Given the description of an element on the screen output the (x, y) to click on. 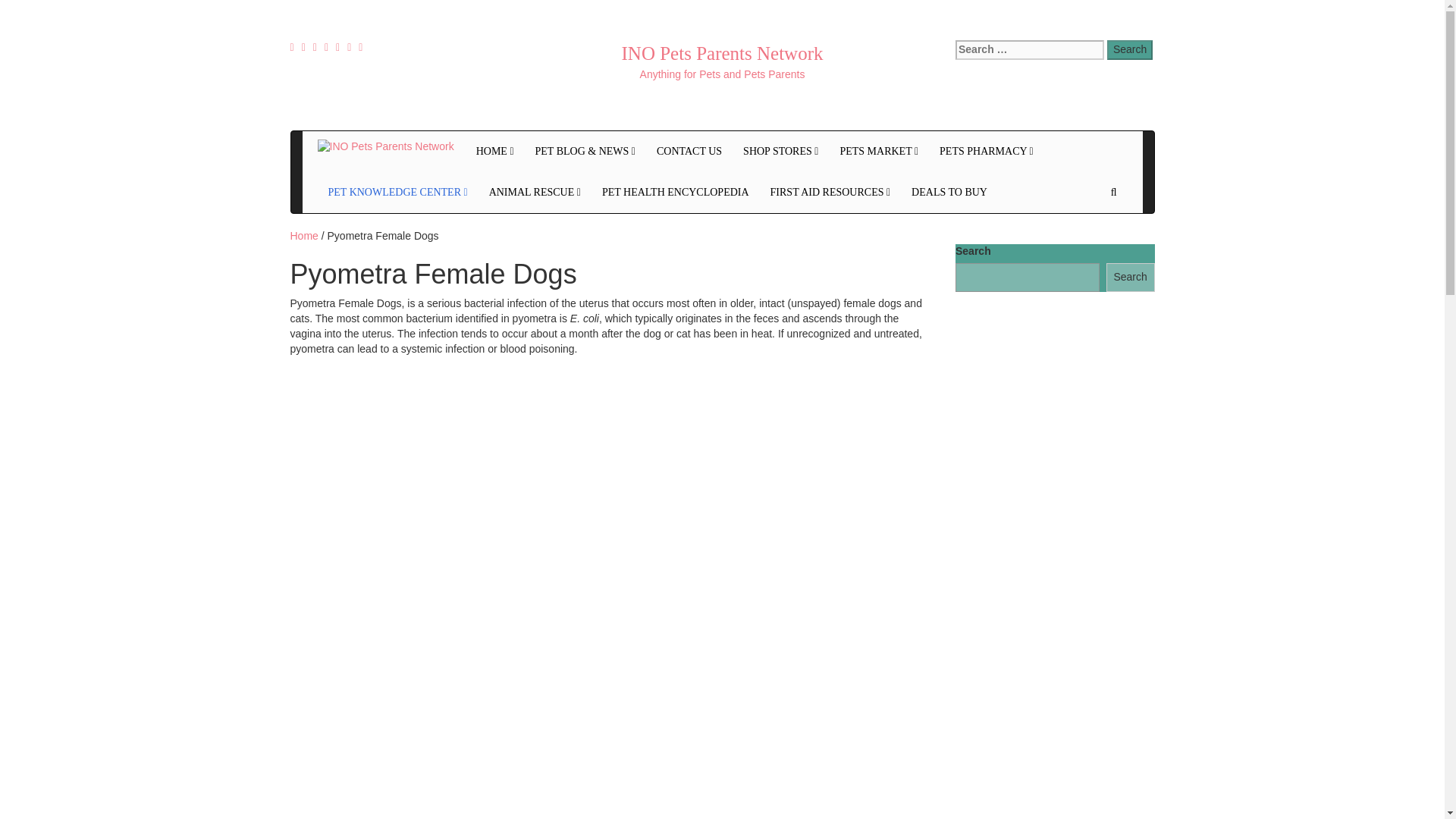
Search (1129, 49)
Search (1129, 49)
Search (1129, 49)
HOME (494, 151)
